Given the description of an element on the screen output the (x, y) to click on. 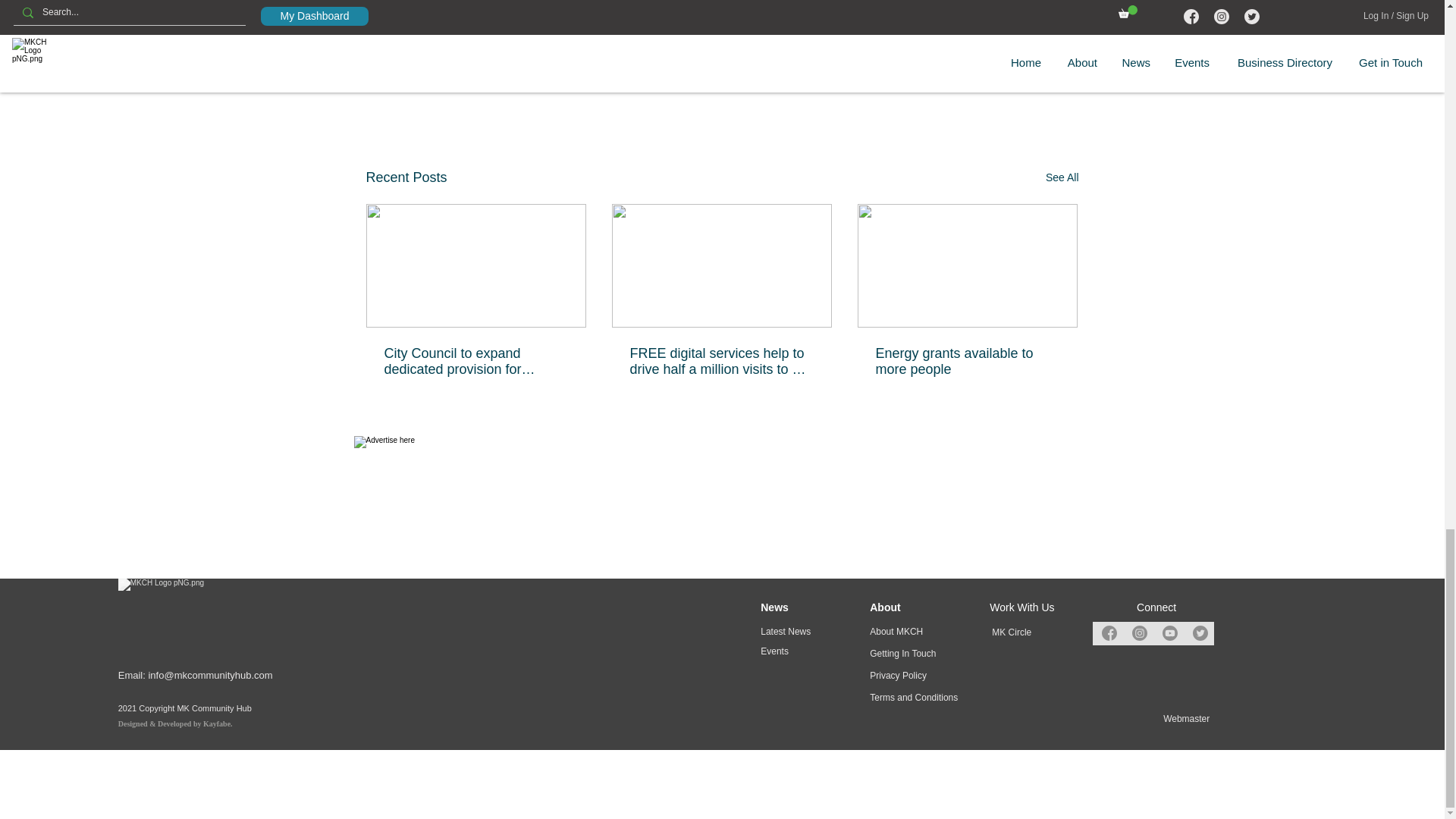
See All (1061, 178)
Energy grants available to more people (966, 361)
Latest News (874, 80)
Community News (961, 80)
